Given the description of an element on the screen output the (x, y) to click on. 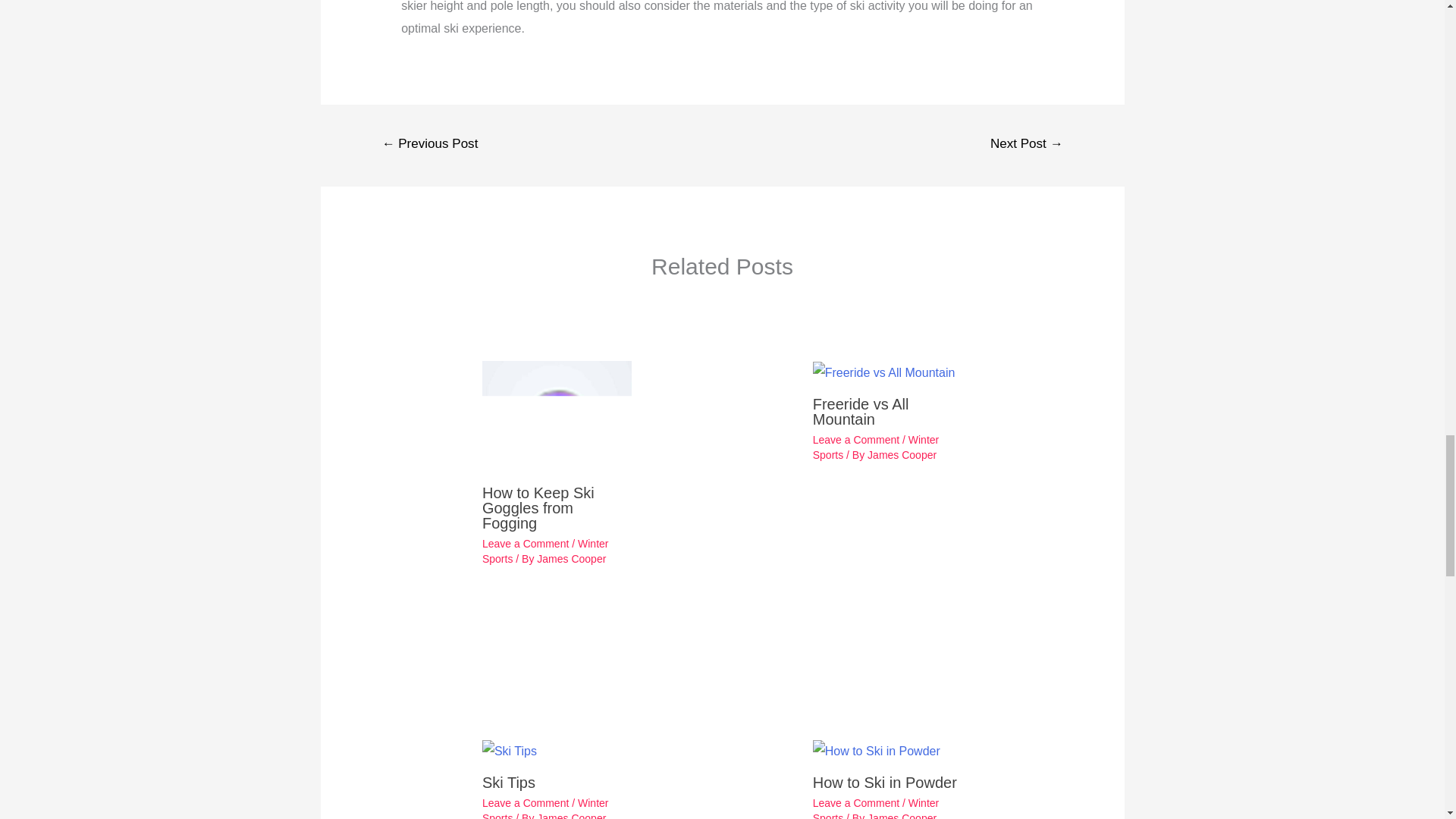
View all posts by James Cooper (901, 454)
How to Ski in Powder (876, 751)
View all posts by James Cooper (571, 815)
View all posts by James Cooper (571, 558)
Freeride vs All Mountain (883, 372)
Ski Tips (509, 751)
View all posts by James Cooper (901, 815)
How to Keep Ski Goggles from Fogging (556, 417)
